Given the description of an element on the screen output the (x, y) to click on. 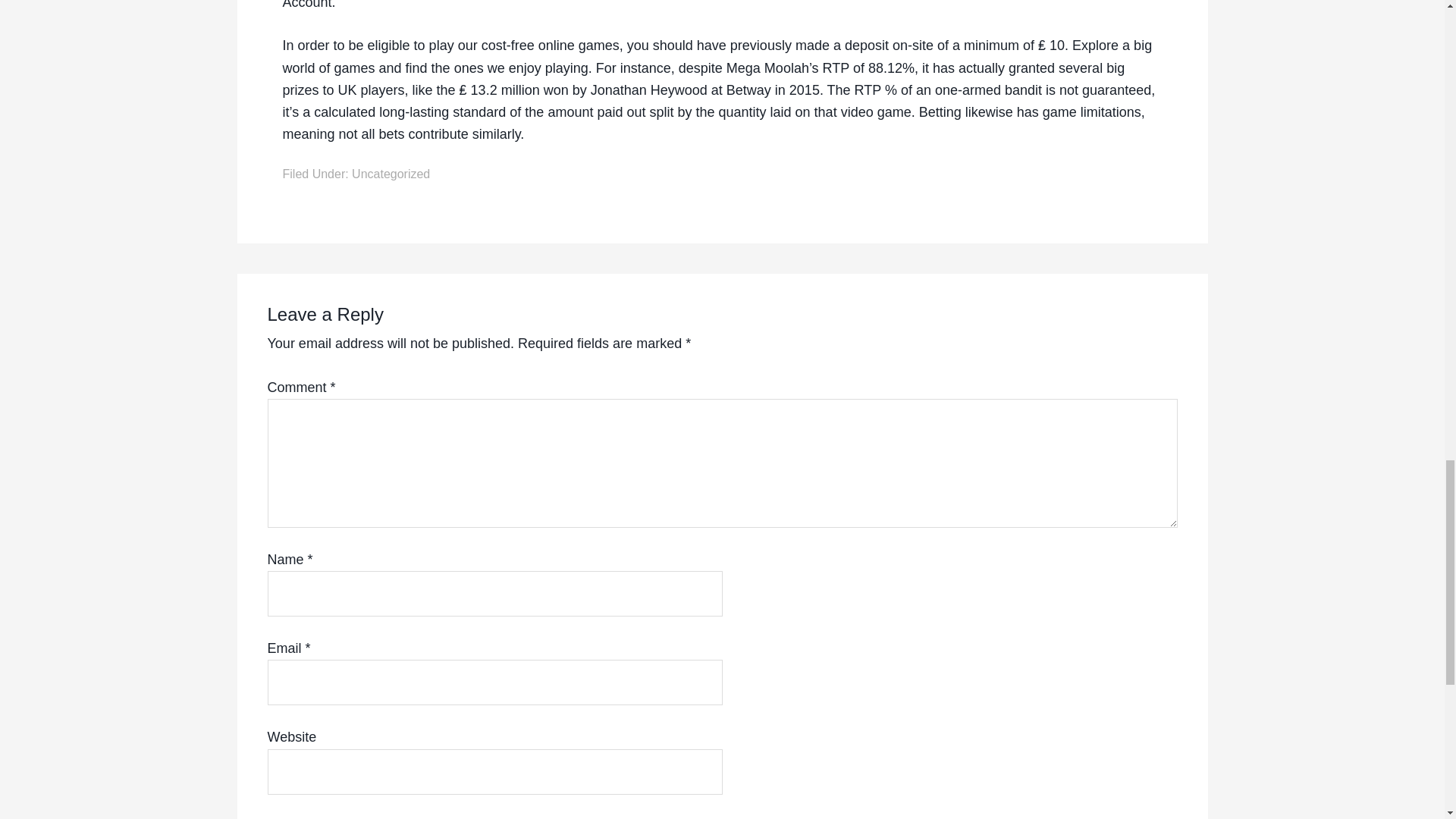
Uncategorized (390, 173)
